Given the description of an element on the screen output the (x, y) to click on. 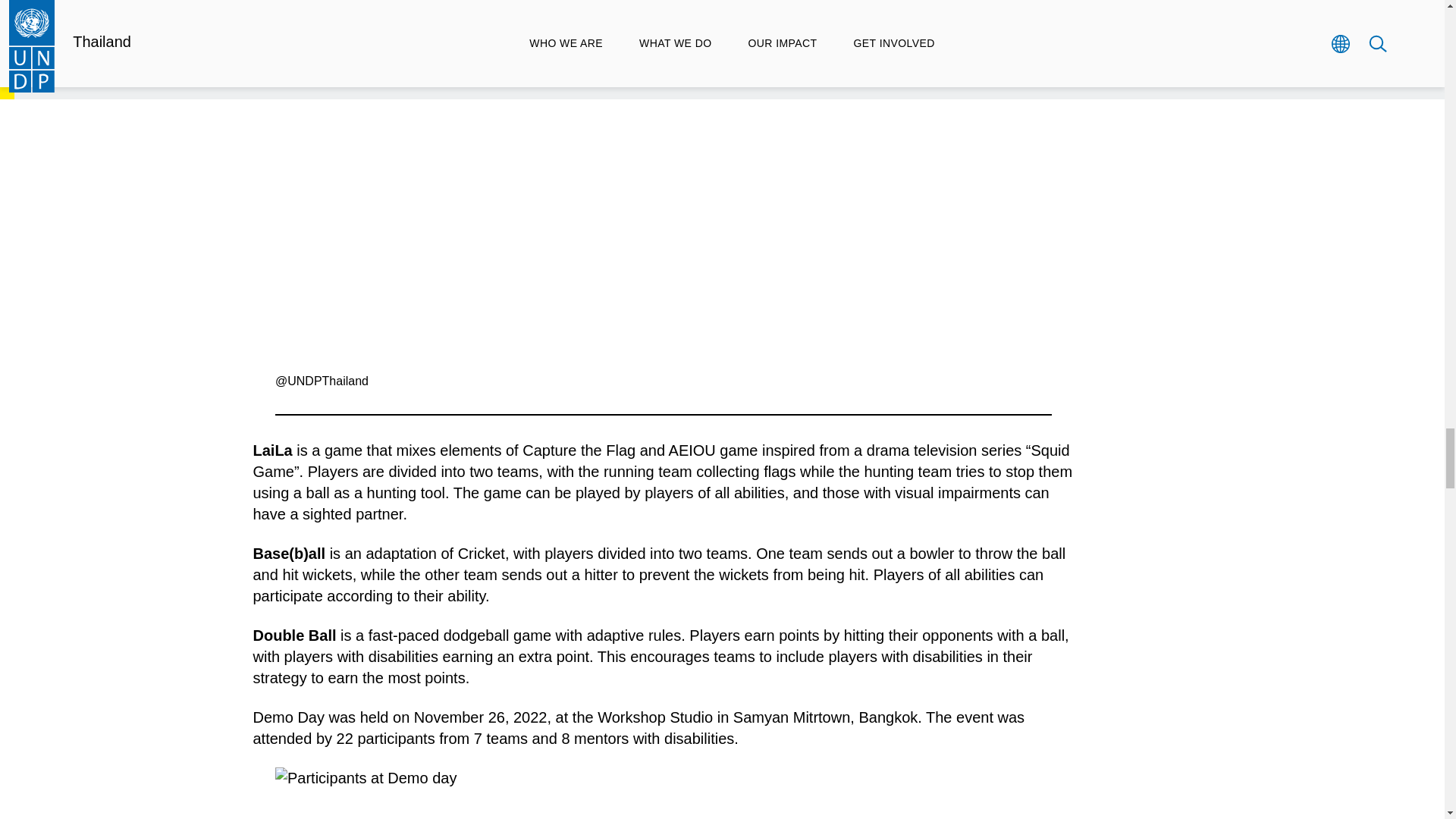
Participants at Demo day  (663, 793)
